Given the description of an element on the screen output the (x, y) to click on. 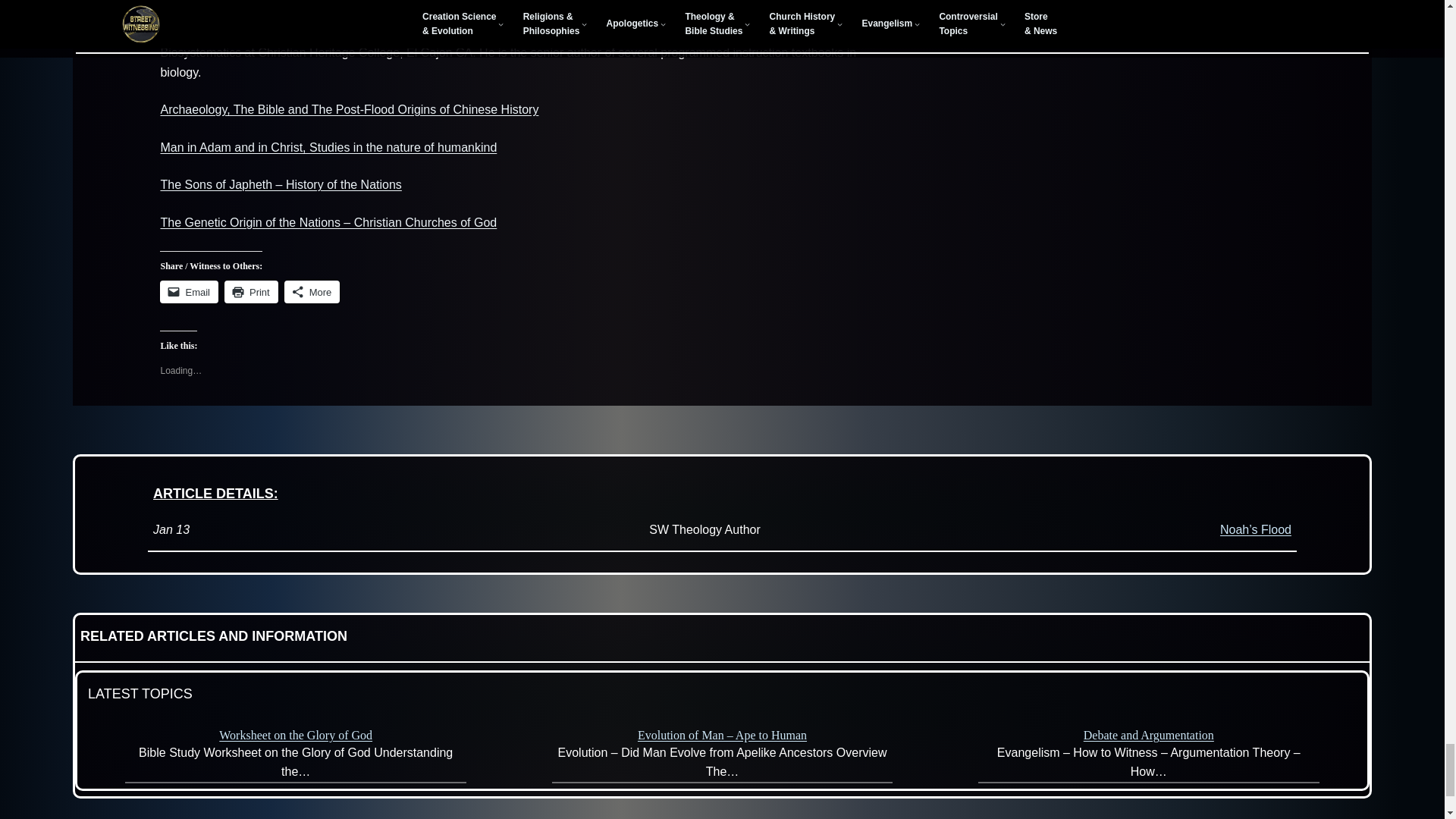
Click to email a link to a friend (189, 291)
Click to print (251, 291)
